Given the description of an element on the screen output the (x, y) to click on. 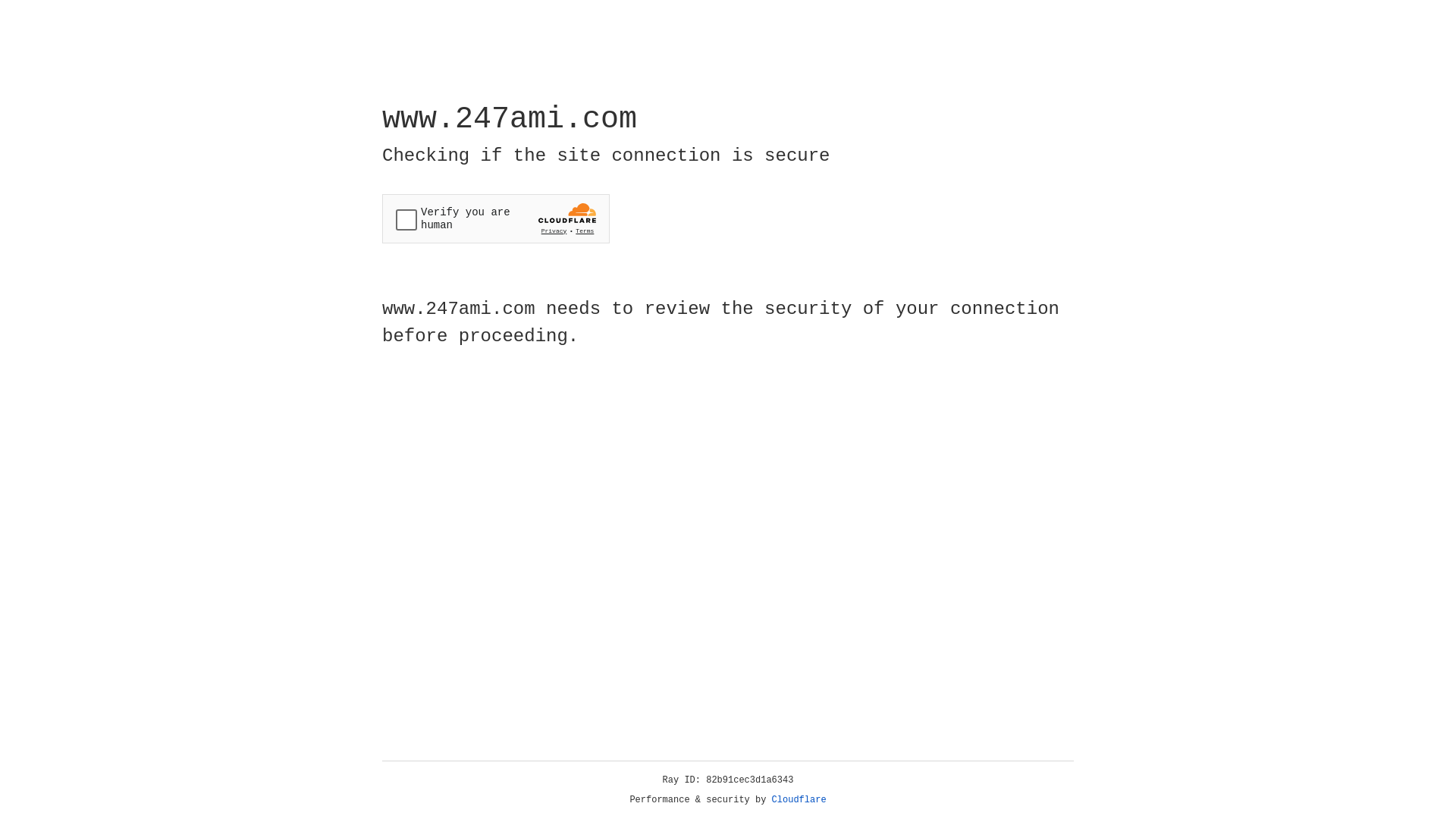
Cloudflare Element type: text (798, 799)
Widget containing a Cloudflare security challenge Element type: hover (495, 218)
